Given the description of an element on the screen output the (x, y) to click on. 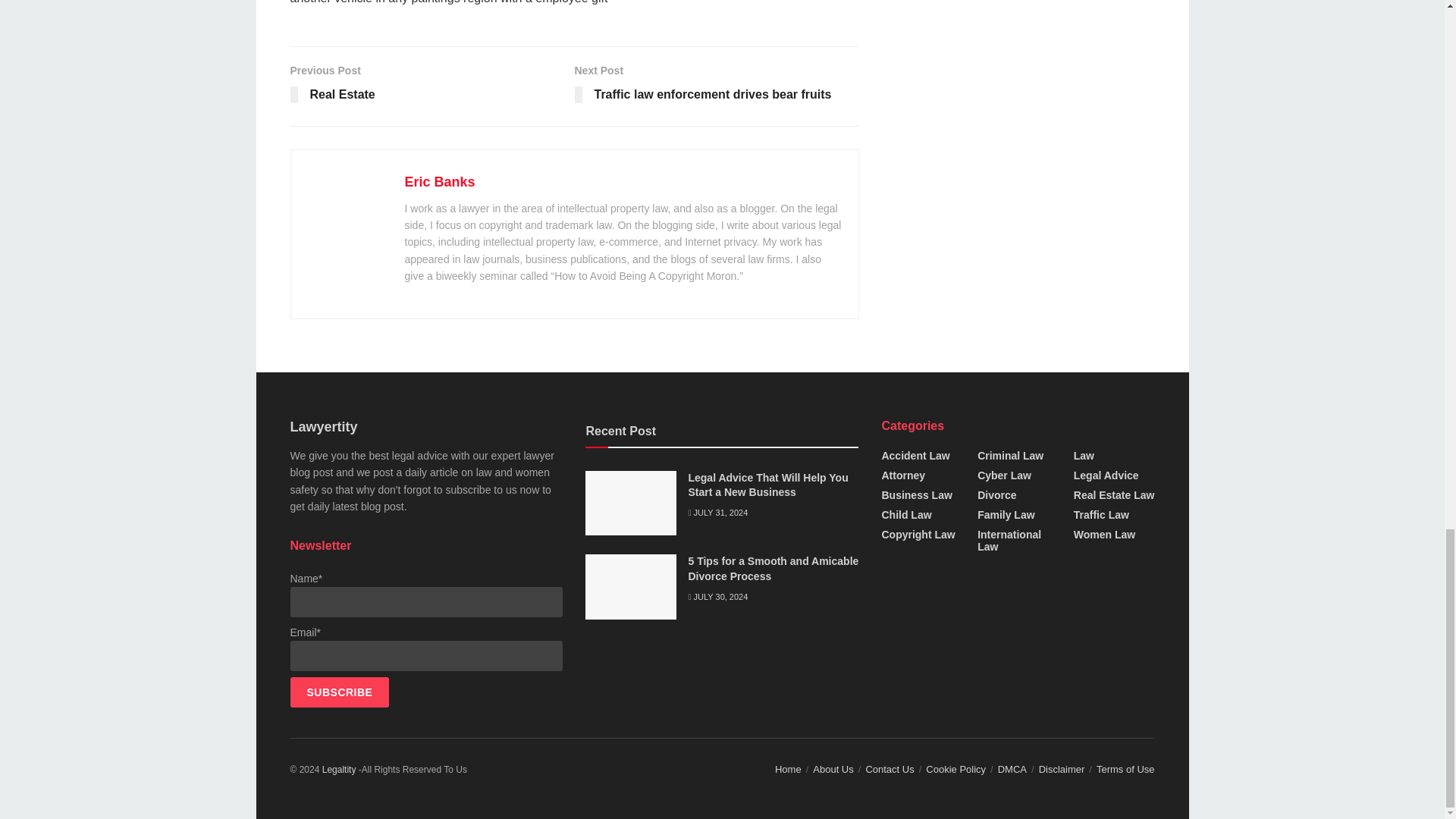
Subscribe (338, 692)
Legaltity (338, 769)
